Given the description of an element on the screen output the (x, y) to click on. 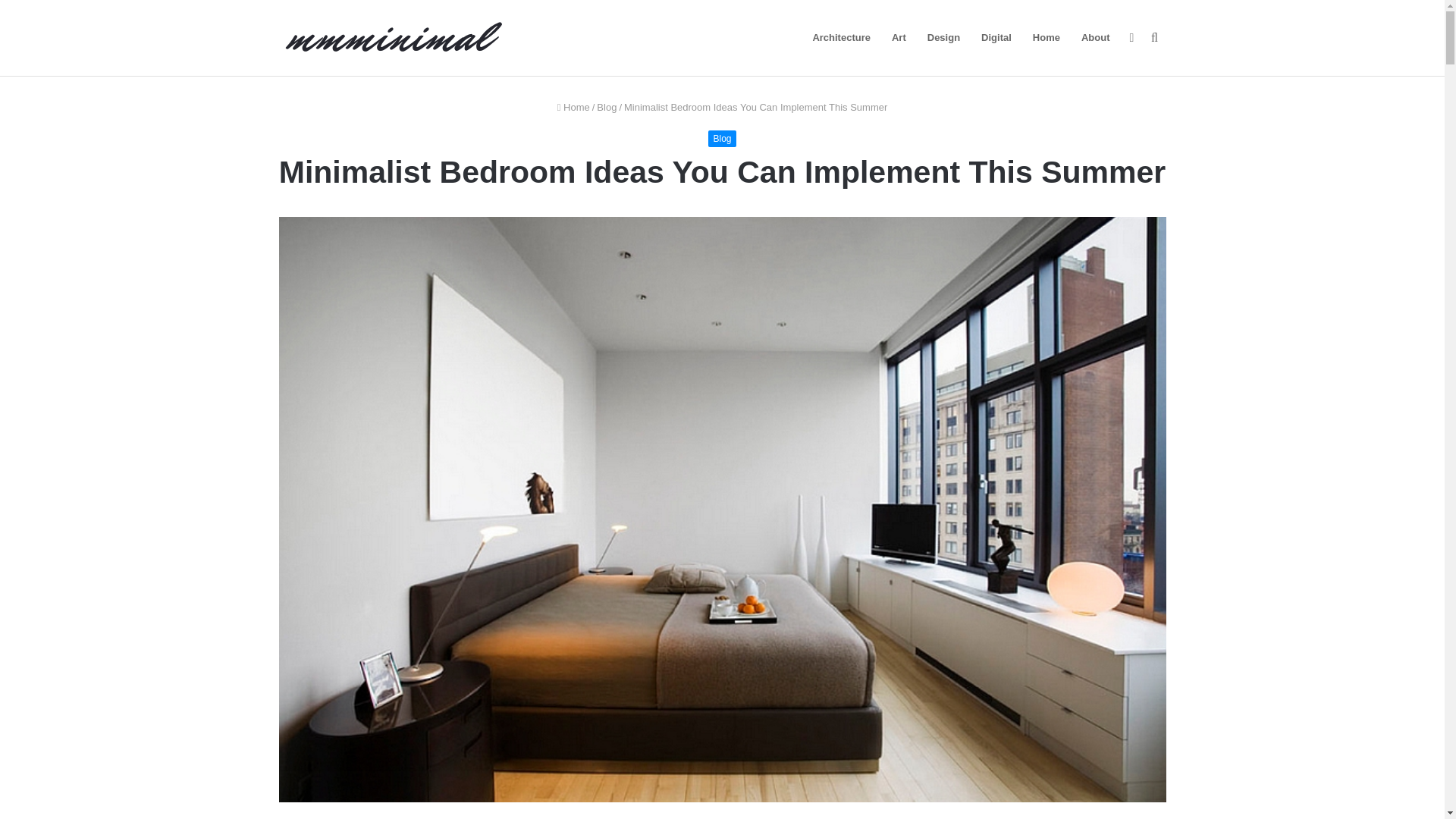
Random Article (1131, 38)
Design (944, 38)
Blog (721, 138)
Architecture (841, 38)
Home (1046, 38)
Home (573, 107)
About (1095, 38)
mmminimal (392, 37)
Random Article (1131, 38)
Digital (996, 38)
Search for (1154, 38)
Art (898, 38)
Blog (605, 107)
